Given the description of an element on the screen output the (x, y) to click on. 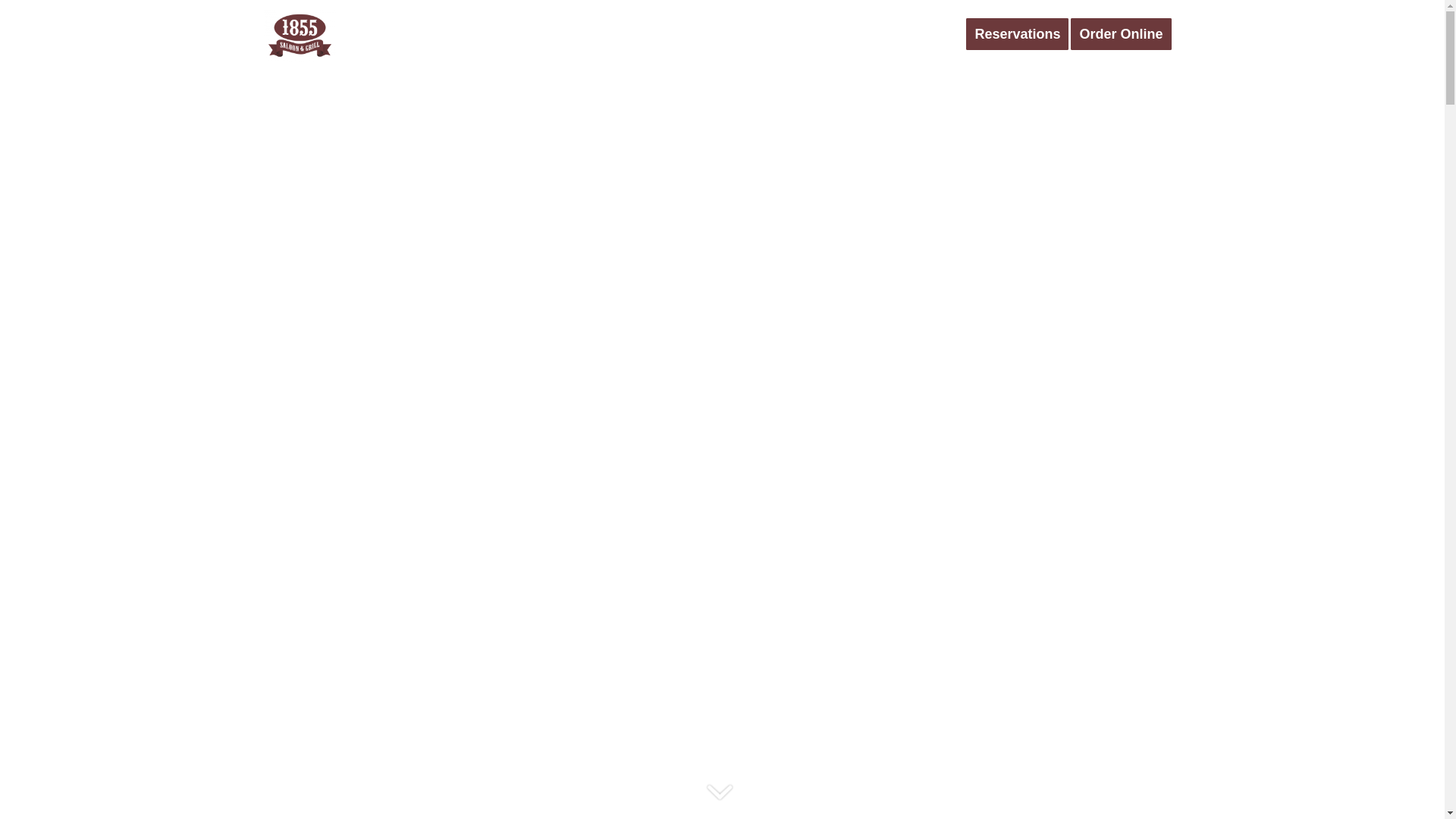
Order Online Element type: text (1125, 33)
Menus Element type: text (933, 33)
Reservations Element type: text (1022, 33)
Welcome Element type: text (669, 33)
Menu Element type: text (795, 33)
About Element type: text (738, 33)
Contact Element type: text (858, 33)
